Given the description of an element on the screen output the (x, y) to click on. 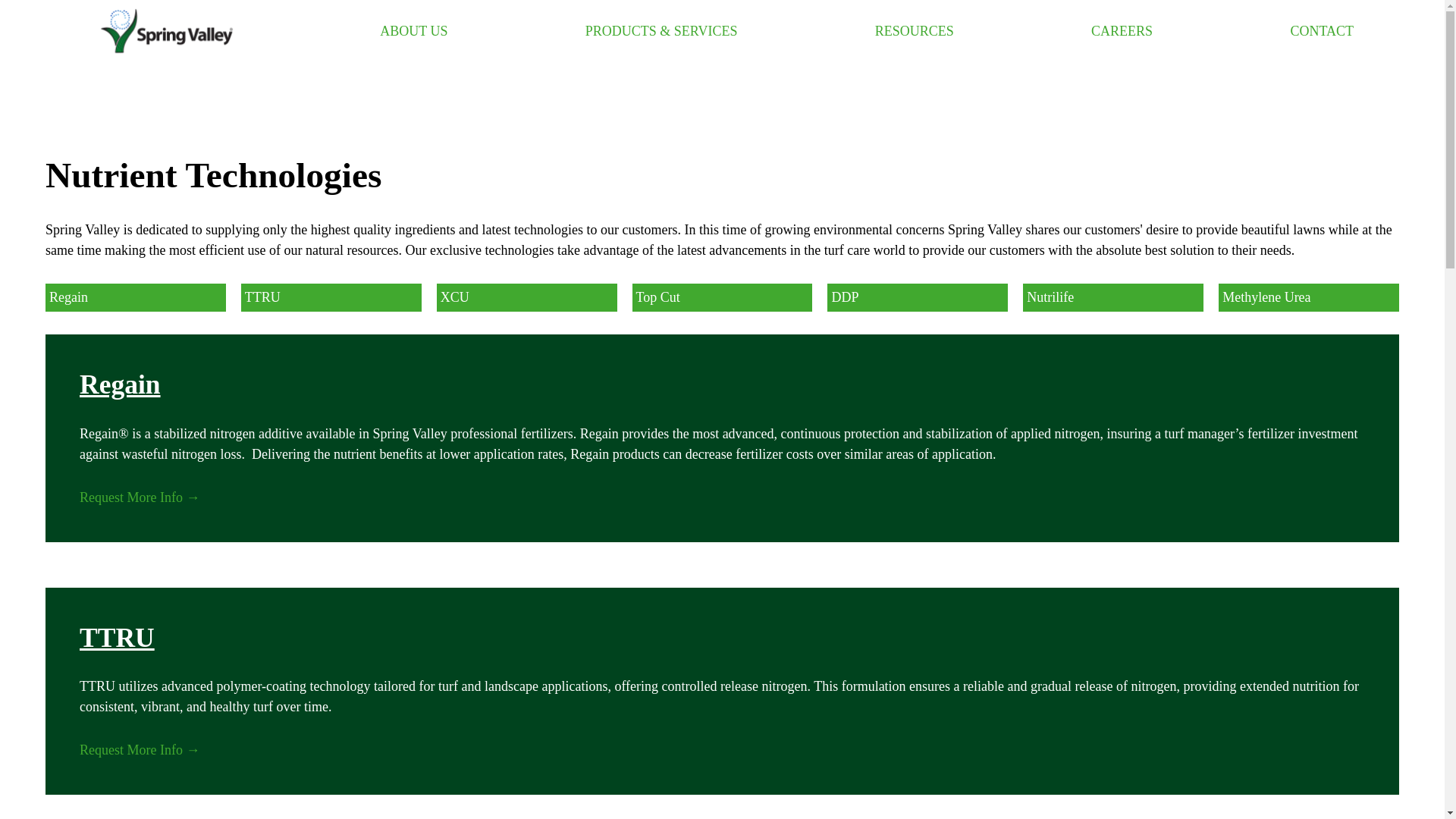
RESOURCES (914, 31)
Nutrilife (1113, 297)
CONTACT (1322, 31)
DDP (917, 297)
XCU (526, 297)
ABOUT US (413, 31)
Top Cut (721, 297)
TTRU (331, 297)
Regain (135, 297)
CAREERS (1121, 31)
